Given the description of an element on the screen output the (x, y) to click on. 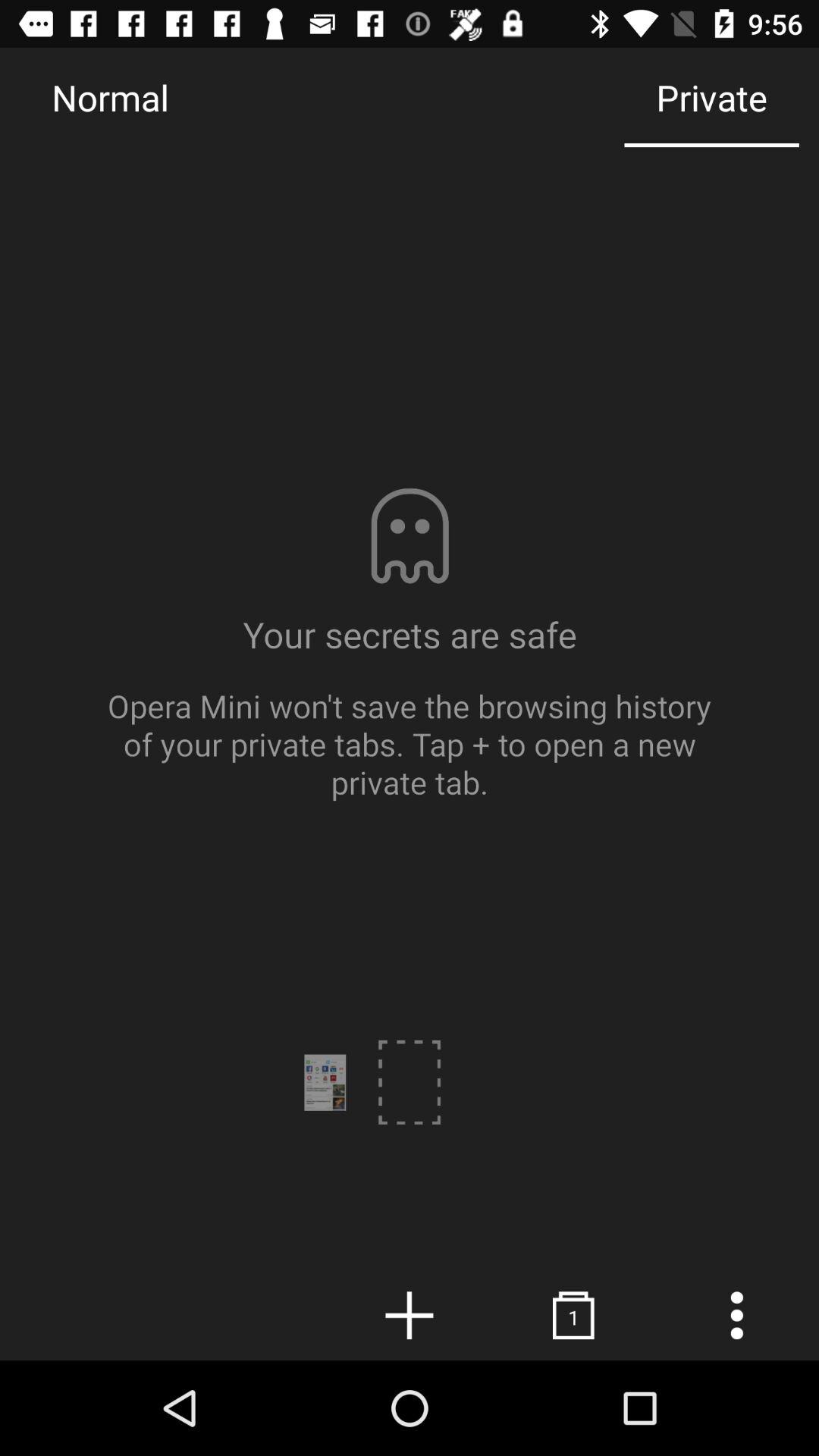
choose the icon next to the normal item (711, 97)
